Given the description of an element on the screen output the (x, y) to click on. 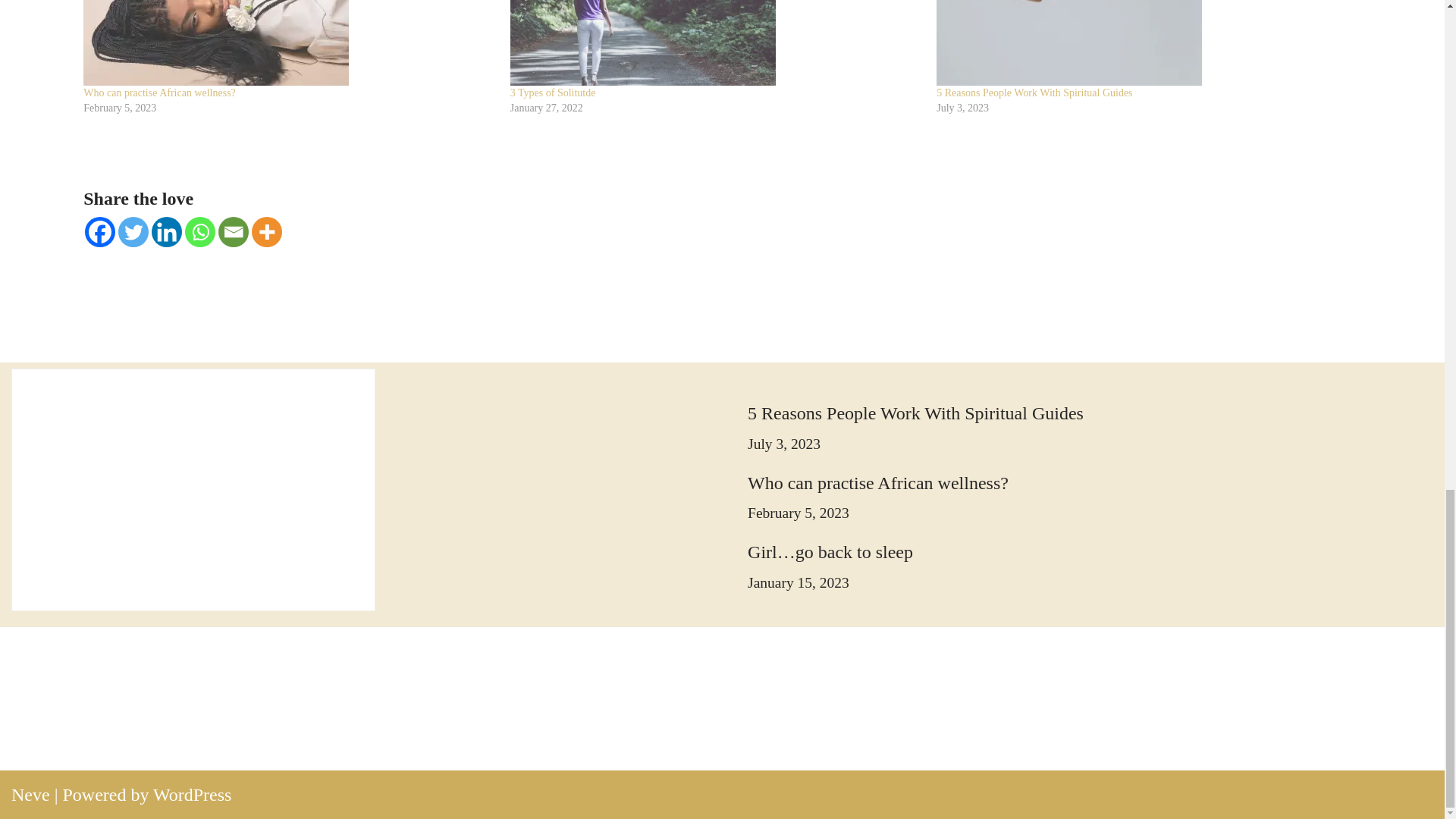
Who can practise African wellness? (158, 92)
Who can practise African wellness? (288, 42)
3 Types of Solitutde (716, 42)
3 Types of Solitutde (553, 92)
Who can practise African wellness? (158, 92)
